Given the description of an element on the screen output the (x, y) to click on. 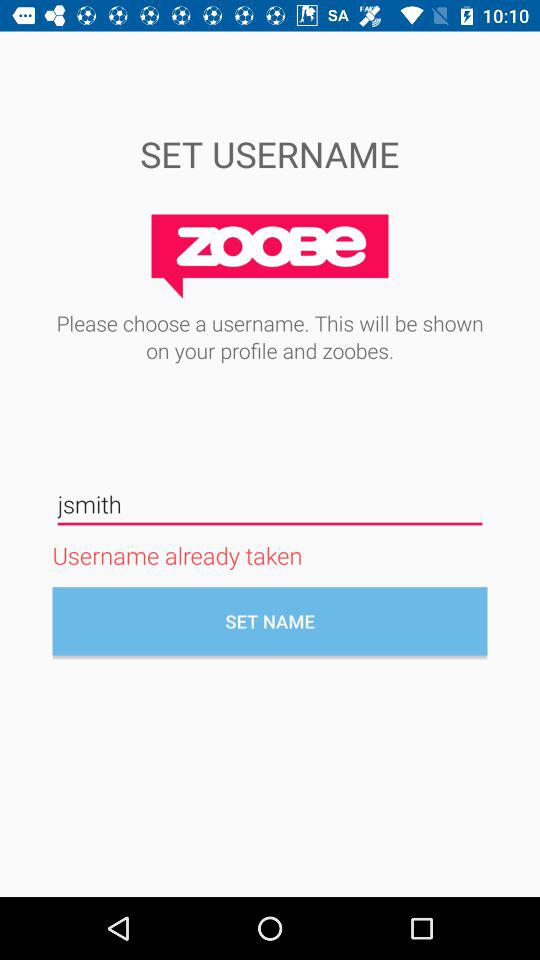
scroll until jsmith (269, 504)
